Given the description of an element on the screen output the (x, y) to click on. 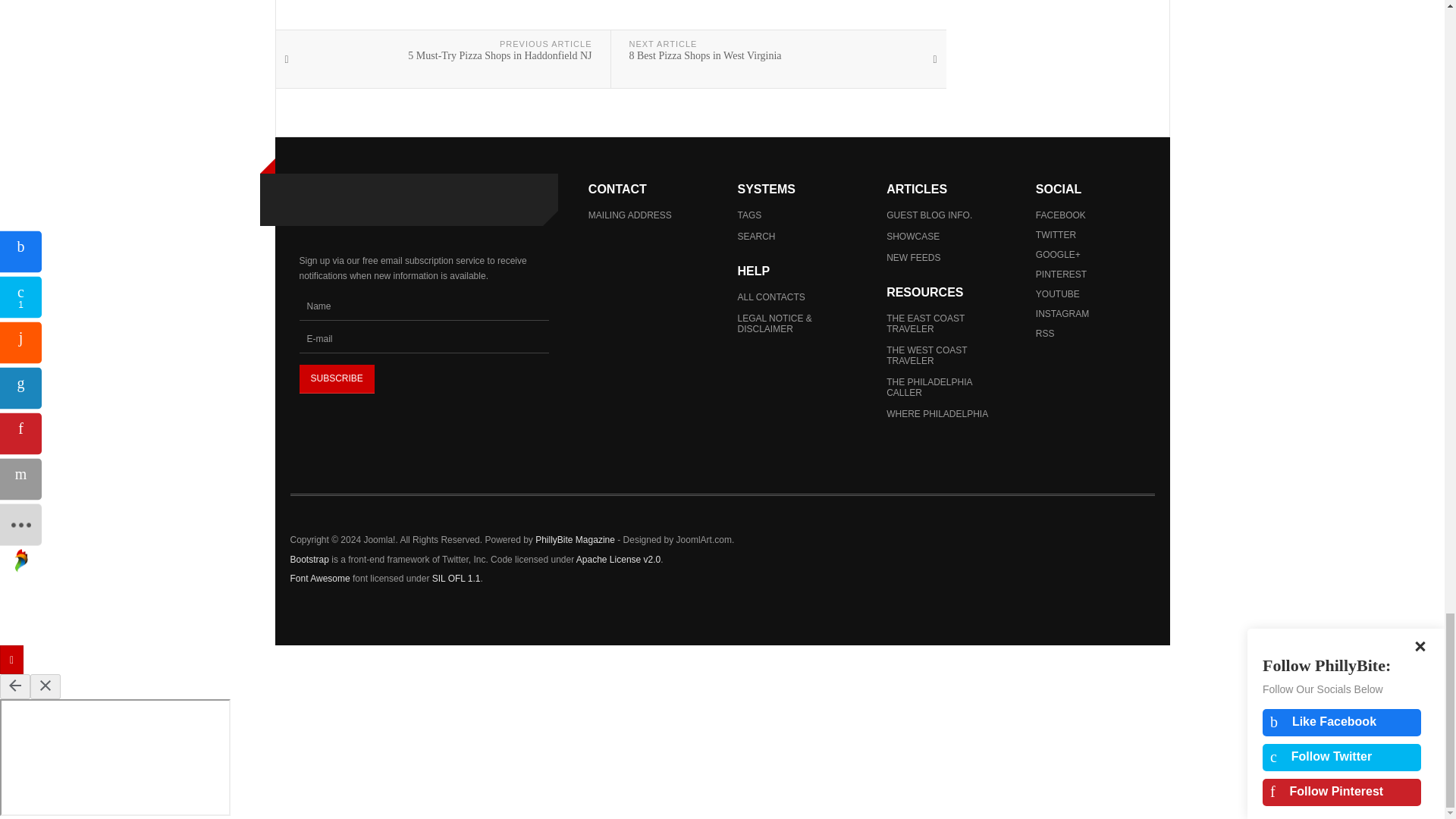
Name (423, 306)
Subscribe (336, 378)
E-mail (423, 338)
